Given the description of an element on the screen output the (x, y) to click on. 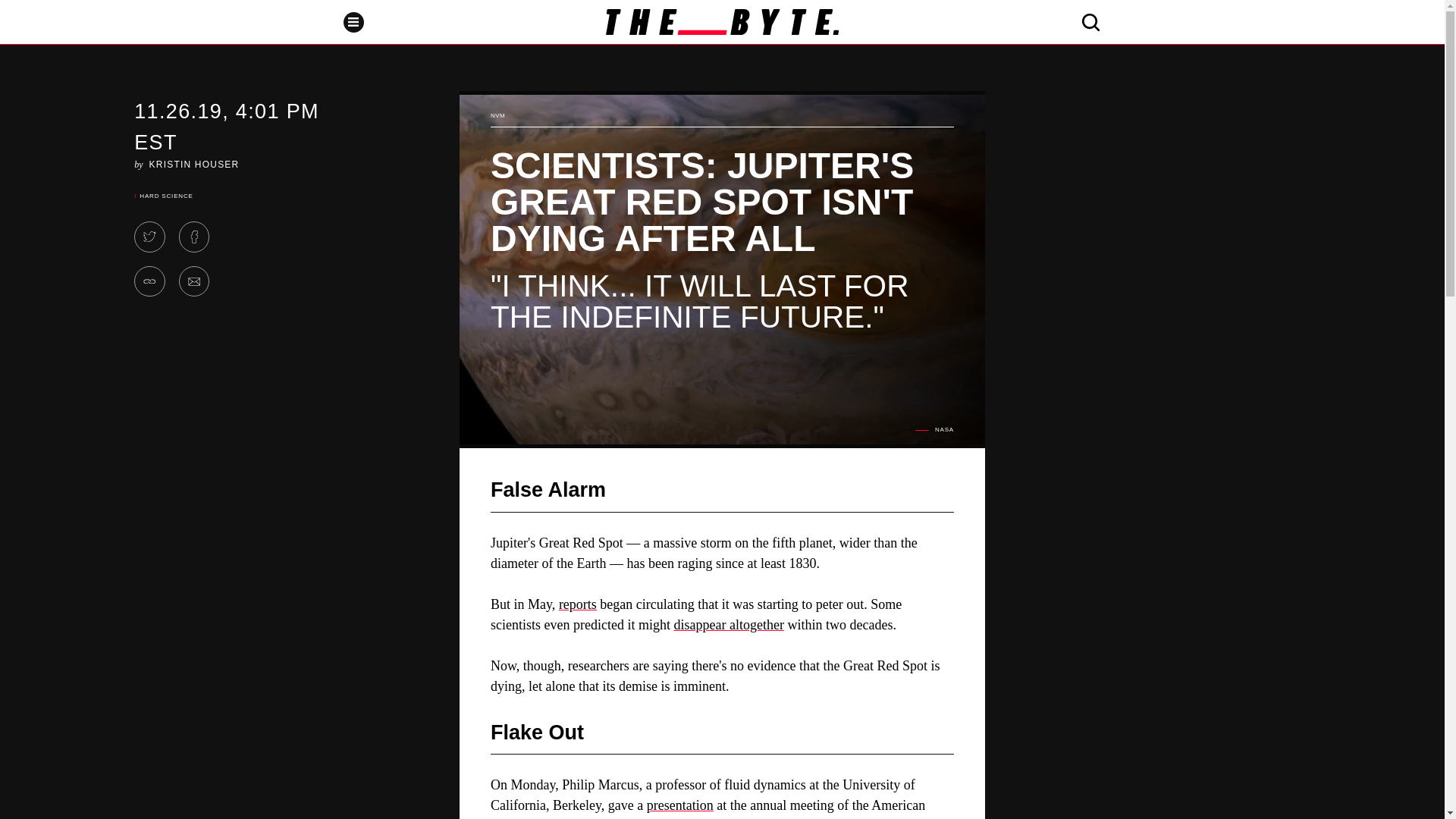
presentation (679, 805)
KRISTIN HOUSER (194, 163)
Hard Science (165, 195)
reports (577, 604)
Tweet This (149, 236)
Share via Email (194, 281)
HARD SCIENCE (165, 195)
The Byte (722, 22)
disappear altogether (727, 624)
Kristin Houser (194, 163)
Copy Link (149, 281)
Share to Facebook (194, 236)
